Given the description of an element on the screen output the (x, y) to click on. 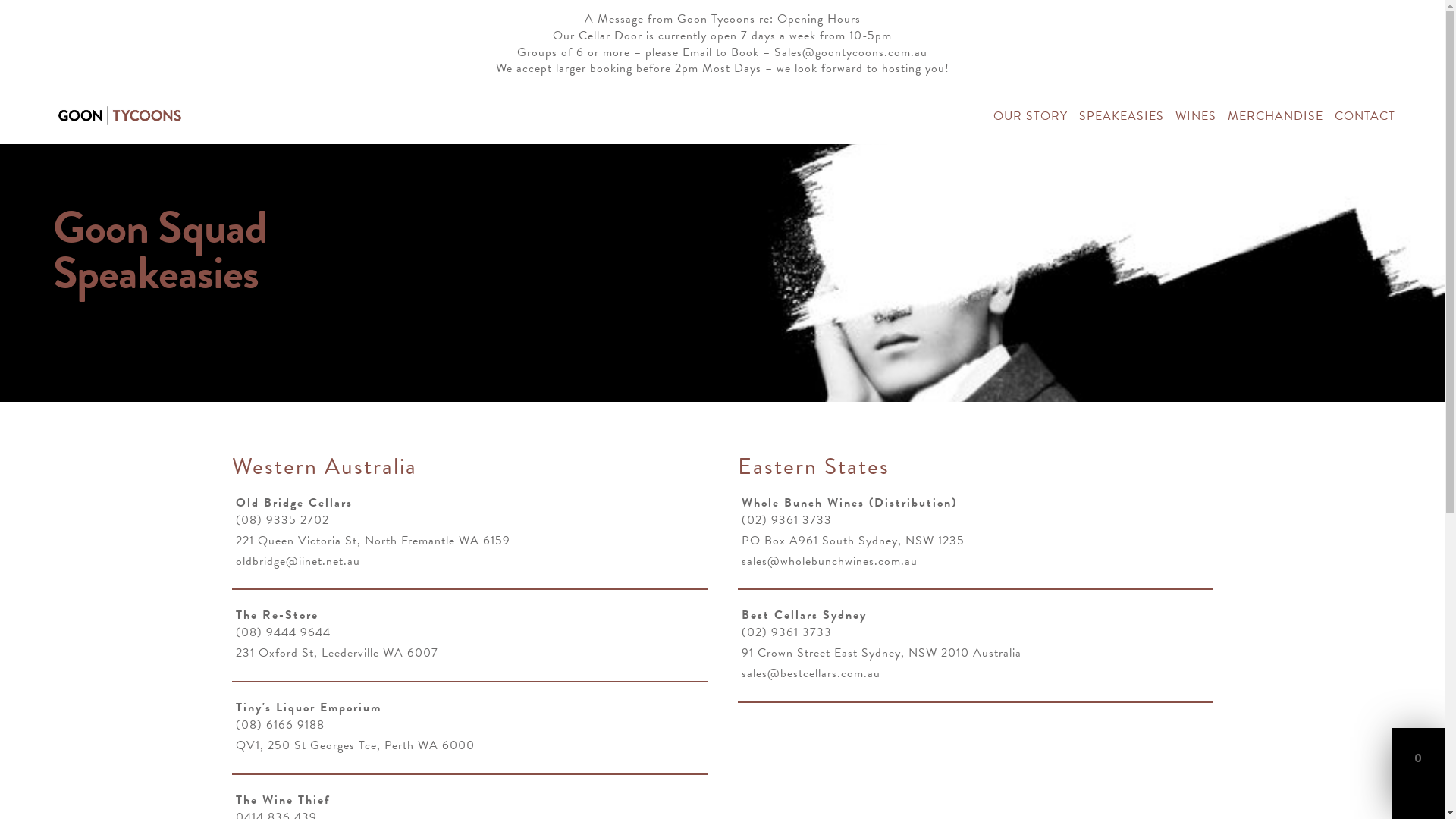
(08) 6166 9188 Element type: text (471, 725)
(08) 9335 2702 Element type: text (471, 520)
WINES Element type: text (1201, 115)
91 Crown Street East Sydney, NSW 2010 Australia Element type: text (977, 653)
(02) 9361 3733 Element type: text (977, 520)
231 Oxford St, Leederville WA 6007 Element type: text (471, 653)
sales@bestcellars.com.au Element type: text (977, 673)
oldbridge@iinet.net.au Element type: text (471, 561)
OUR STORY Element type: text (1036, 115)
sales@wholebunchwines.com.au Element type: text (977, 561)
221 Queen Victoria St, North Fremantle WA 6159 Element type: text (471, 541)
PO Box A961 South Sydney, NSW 1235 Element type: text (977, 541)
MERCHANDISE Element type: text (1280, 115)
SPEAKEASIES Element type: text (1127, 115)
CONTACT Element type: text (1370, 115)
QV1, 250 St Georges Tce, Perth WA 6000 Element type: text (471, 745)
(02) 9361 3733 Element type: text (977, 632)
(08) 9444 9644 Element type: text (471, 632)
